Given the description of an element on the screen output the (x, y) to click on. 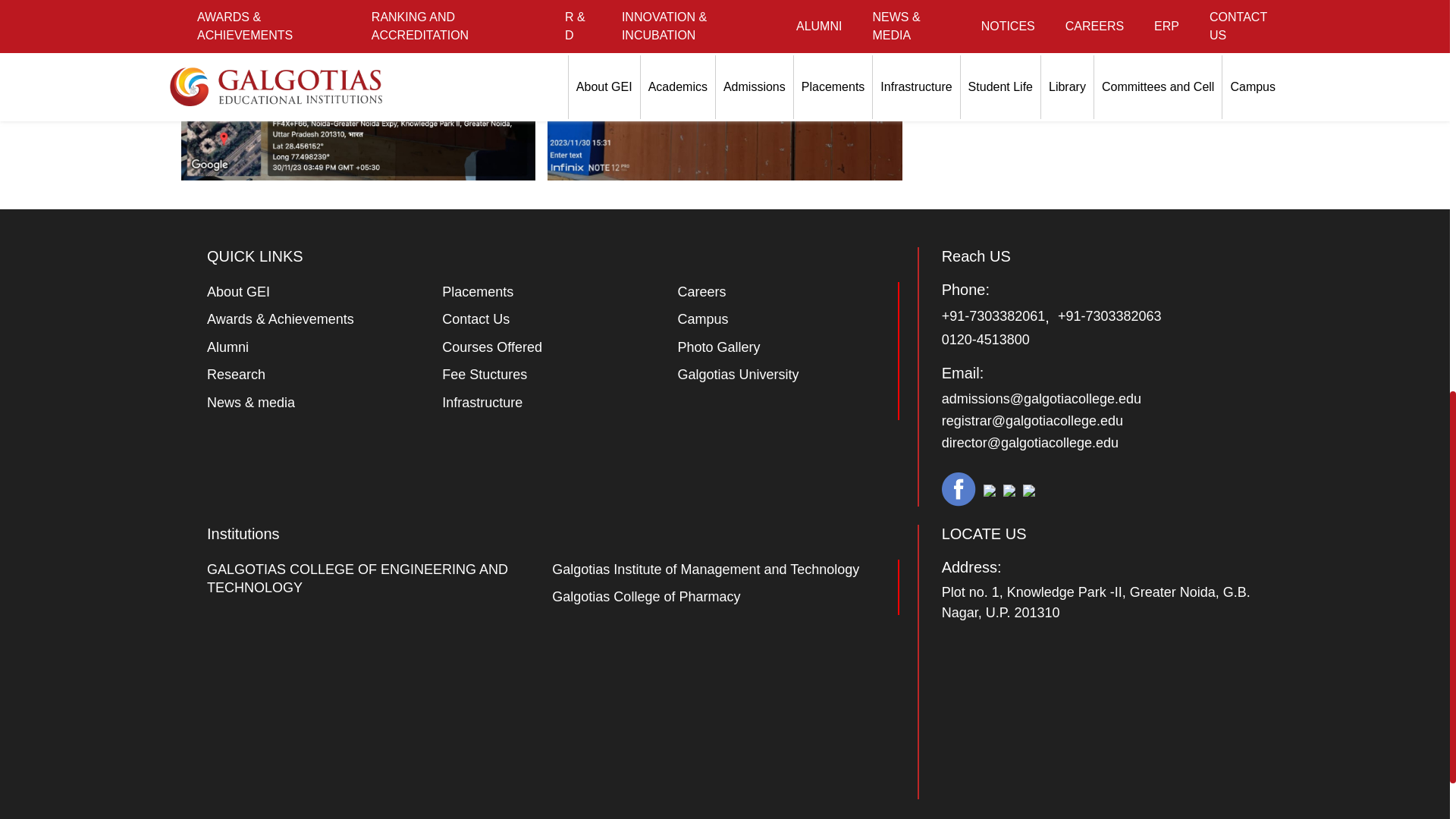
Contact Us (475, 319)
Careers (701, 291)
0120-4513800 (985, 340)
About GEI (237, 291)
Placements (477, 291)
Courses Offered (491, 346)
Photo Gallery (718, 346)
Galgotias University (737, 374)
Campus (702, 319)
Research (235, 374)
Infrastructure (482, 402)
Alumni (227, 346)
Fee Stuctures (484, 374)
